Given the description of an element on the screen output the (x, y) to click on. 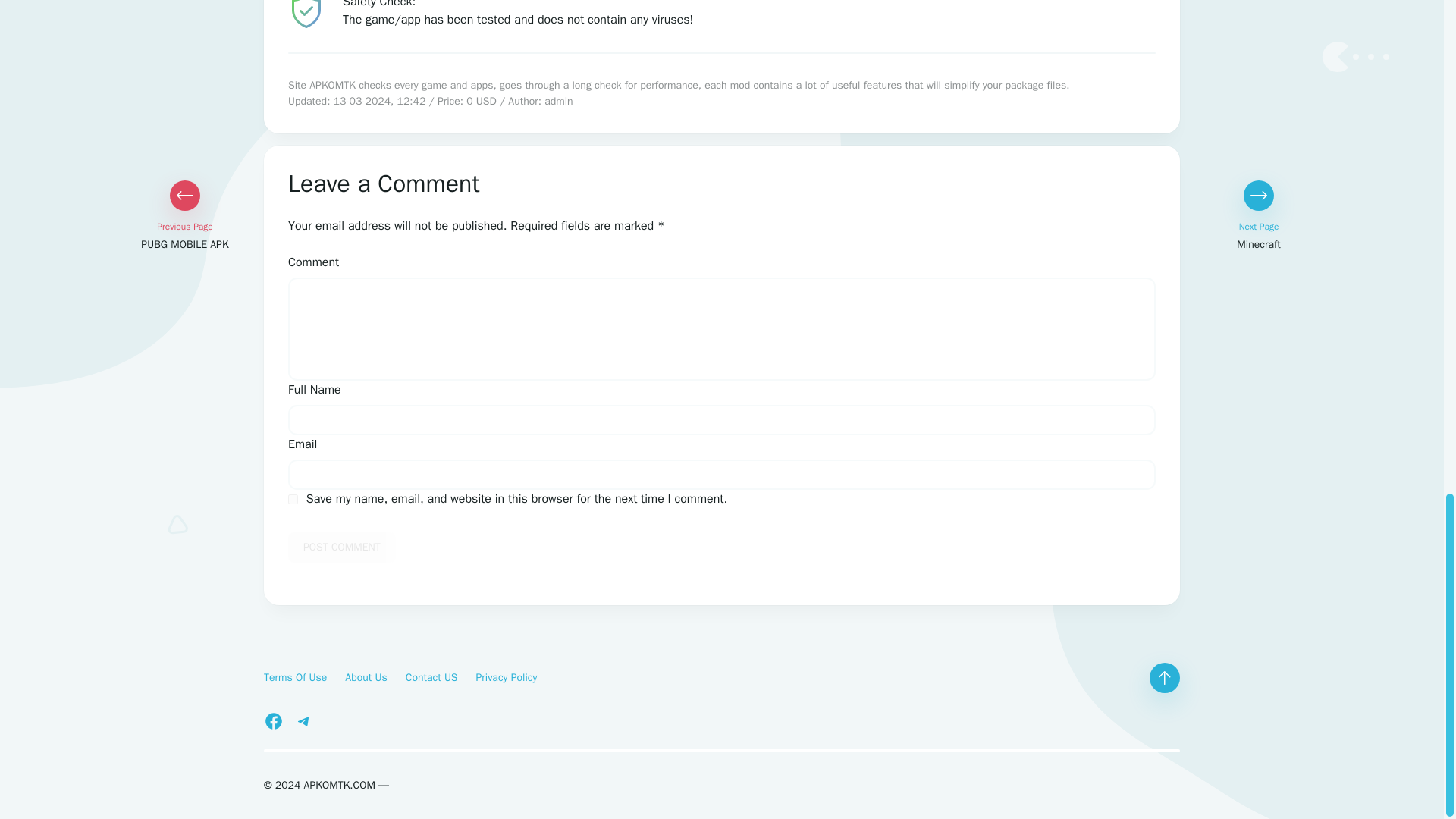
yes (293, 499)
